Given the description of an element on the screen output the (x, y) to click on. 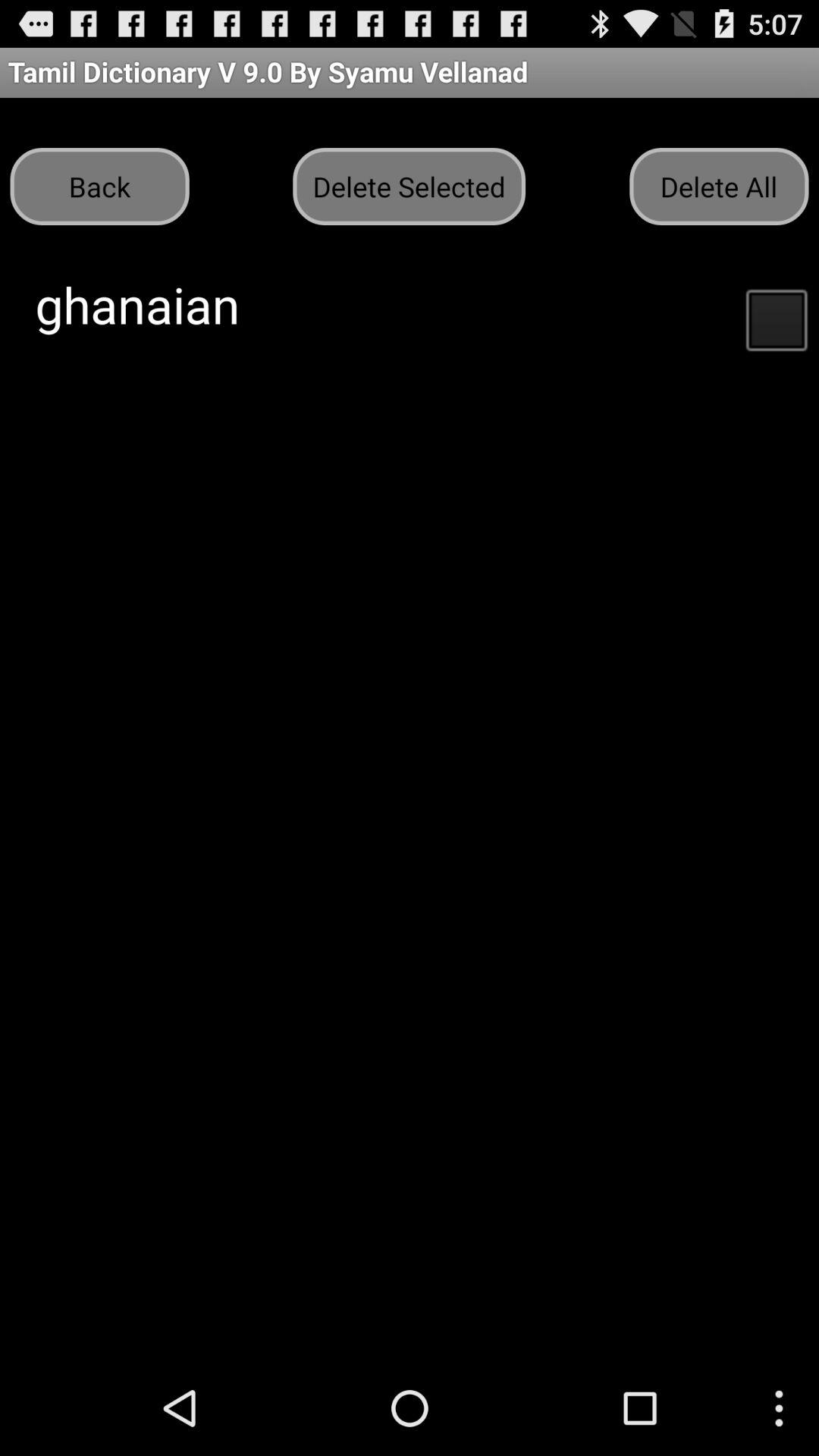
tap the icon below the tamil dictionary v item (408, 186)
